Given the description of an element on the screen output the (x, y) to click on. 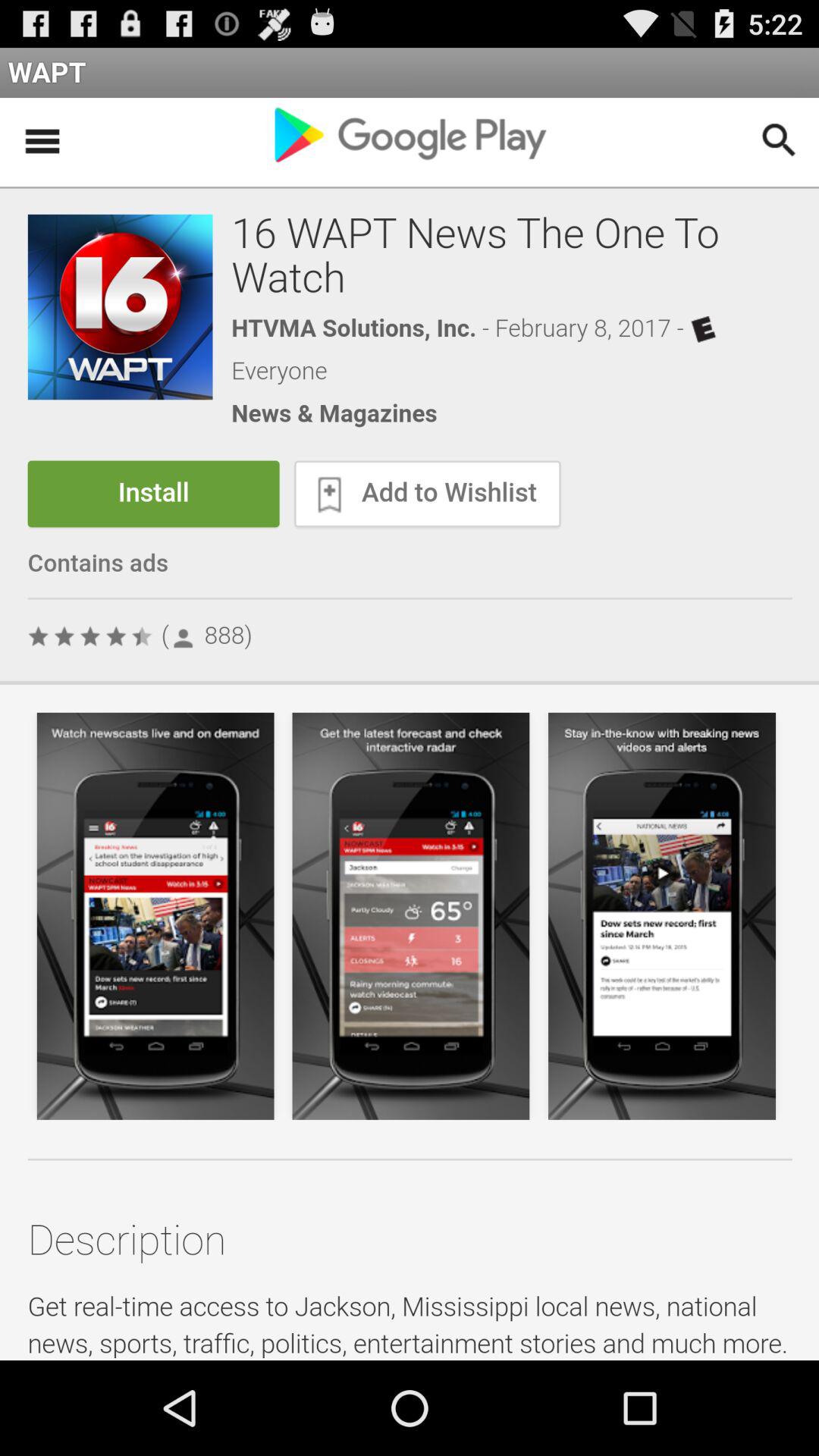
install the app (409, 728)
